Given the description of an element on the screen output the (x, y) to click on. 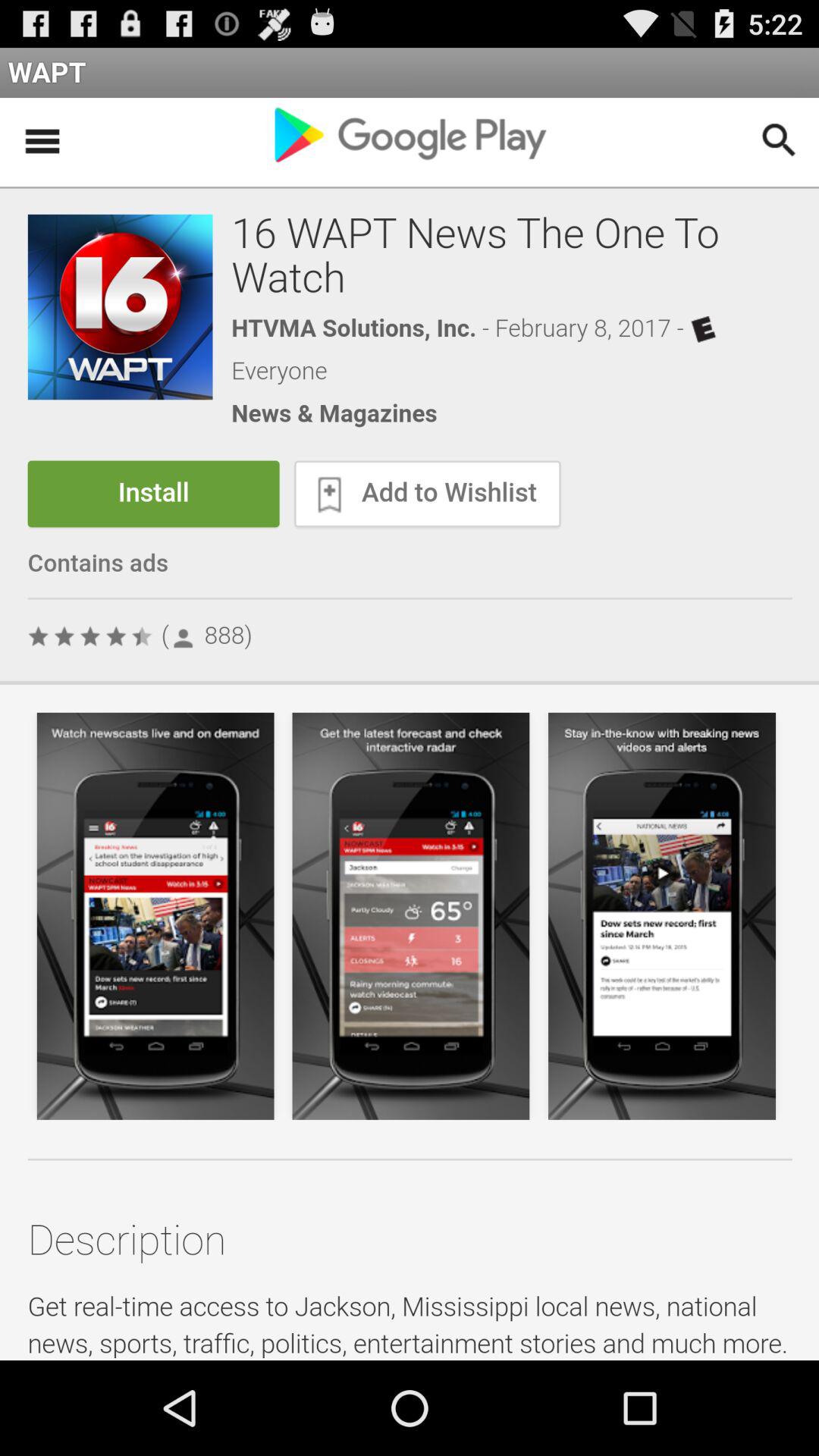
install the app (409, 728)
